Given the description of an element on the screen output the (x, y) to click on. 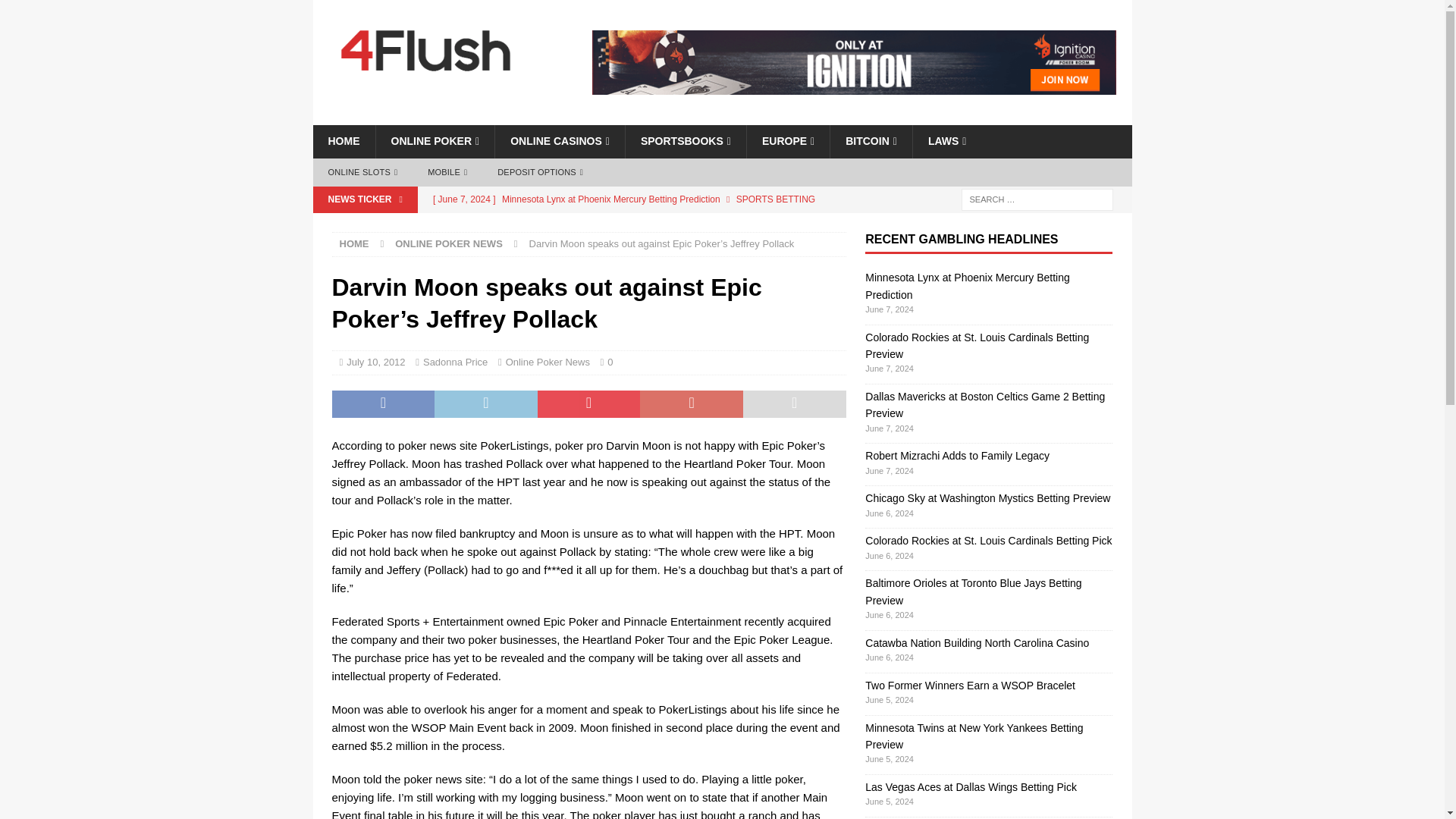
Sportsbooks (684, 141)
Colorado Rockies at St. Louis Cardinals Betting Preview (634, 225)
HOME (343, 141)
ONLINE POKER (434, 141)
Online Casinos (559, 141)
European Gambling Sites (787, 141)
Online Poker (434, 141)
Bitcoin Gambling (870, 141)
ONLINE CASINOS (559, 141)
Minnesota Lynx at Phoenix Mercury Betting Prediction (634, 199)
